Given the description of an element on the screen output the (x, y) to click on. 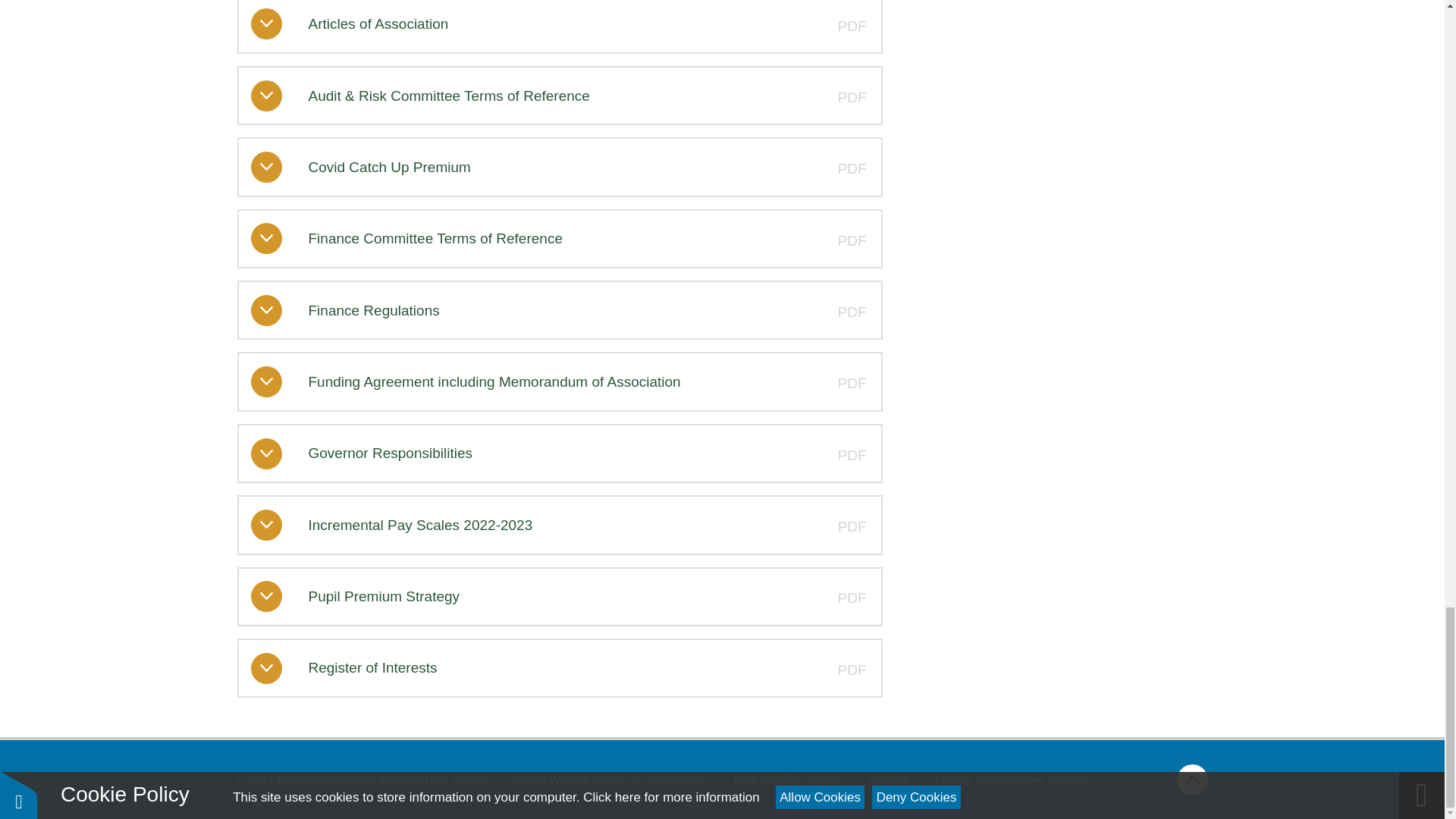
Cookie Settings (1048, 779)
